Given the description of an element on the screen output the (x, y) to click on. 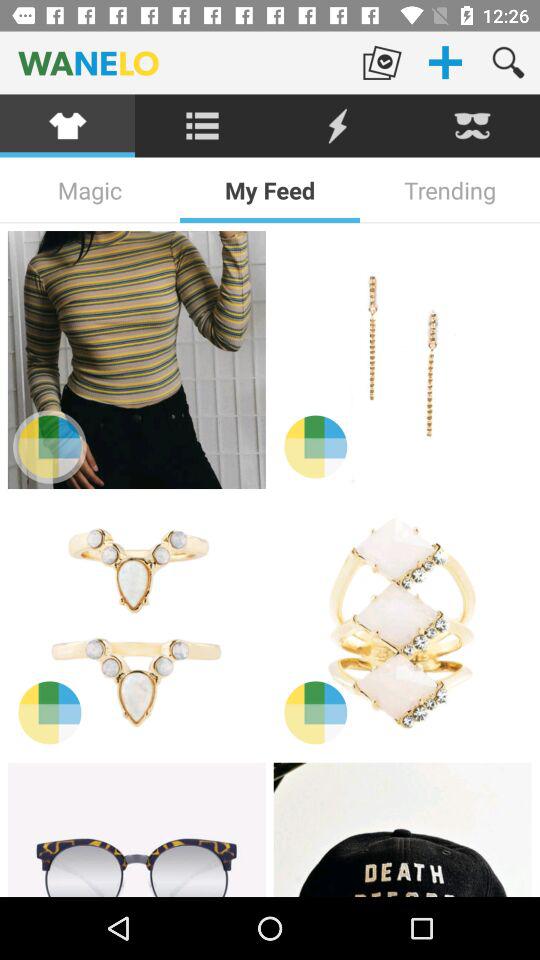
click the item next to trending (270, 190)
